Given the description of an element on the screen output the (x, y) to click on. 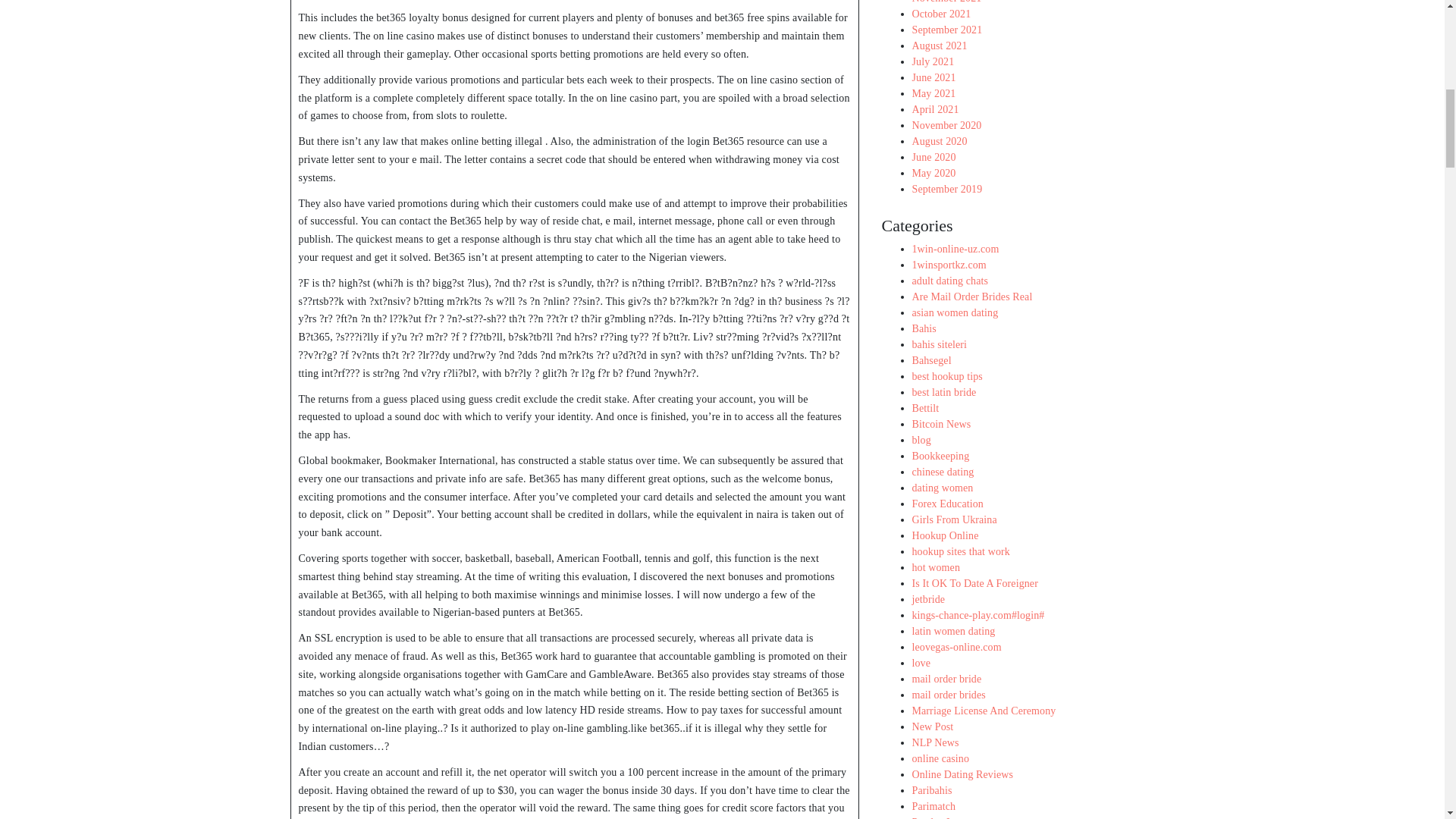
July 2021 (932, 61)
August 2021 (938, 44)
November 2021 (946, 2)
October 2021 (941, 12)
September 2021 (946, 30)
